Given the description of an element on the screen output the (x, y) to click on. 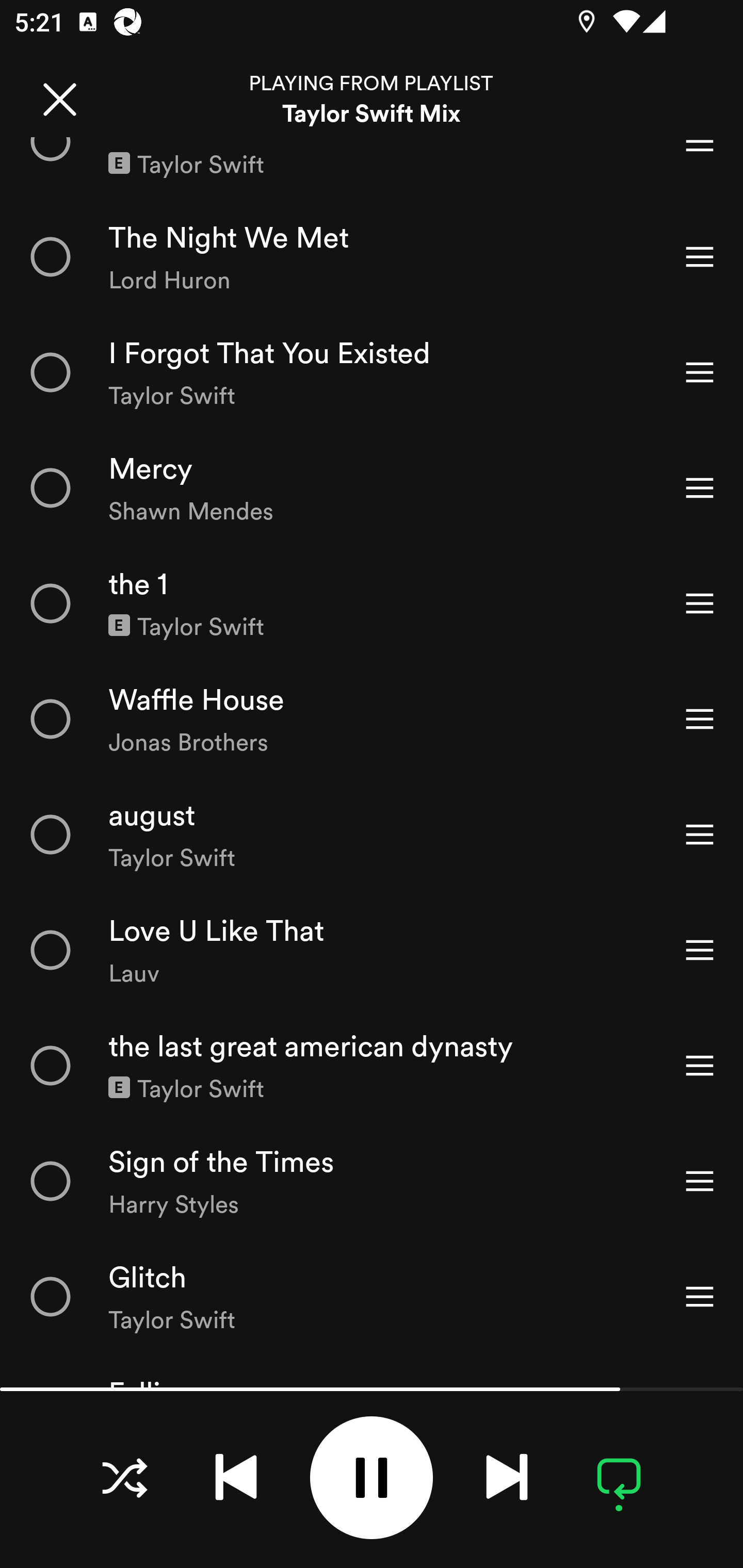
Close (59, 99)
PLAYING FROM PLAYLIST Taylor Swift Mix (371, 99)
Karma Explicit Taylor Swift Reorder track (371, 168)
The Night We Met Lord Huron Reorder track (371, 257)
Mercy Shawn Mendes Reorder track (371, 487)
the 1 Explicit Taylor Swift Reorder track (371, 603)
Waffle House Jonas Brothers Reorder track (371, 718)
august Taylor Swift Reorder track (371, 834)
Love U Like That Lauv Reorder track (371, 950)
Sign of the Times Harry Styles Reorder track (371, 1180)
Glitch Taylor Swift Reorder track (371, 1296)
Pause (371, 1477)
Previous (235, 1477)
Next (507, 1477)
Choose a Listening Mode (123, 1477)
Repeat (618, 1477)
